Given the description of an element on the screen output the (x, y) to click on. 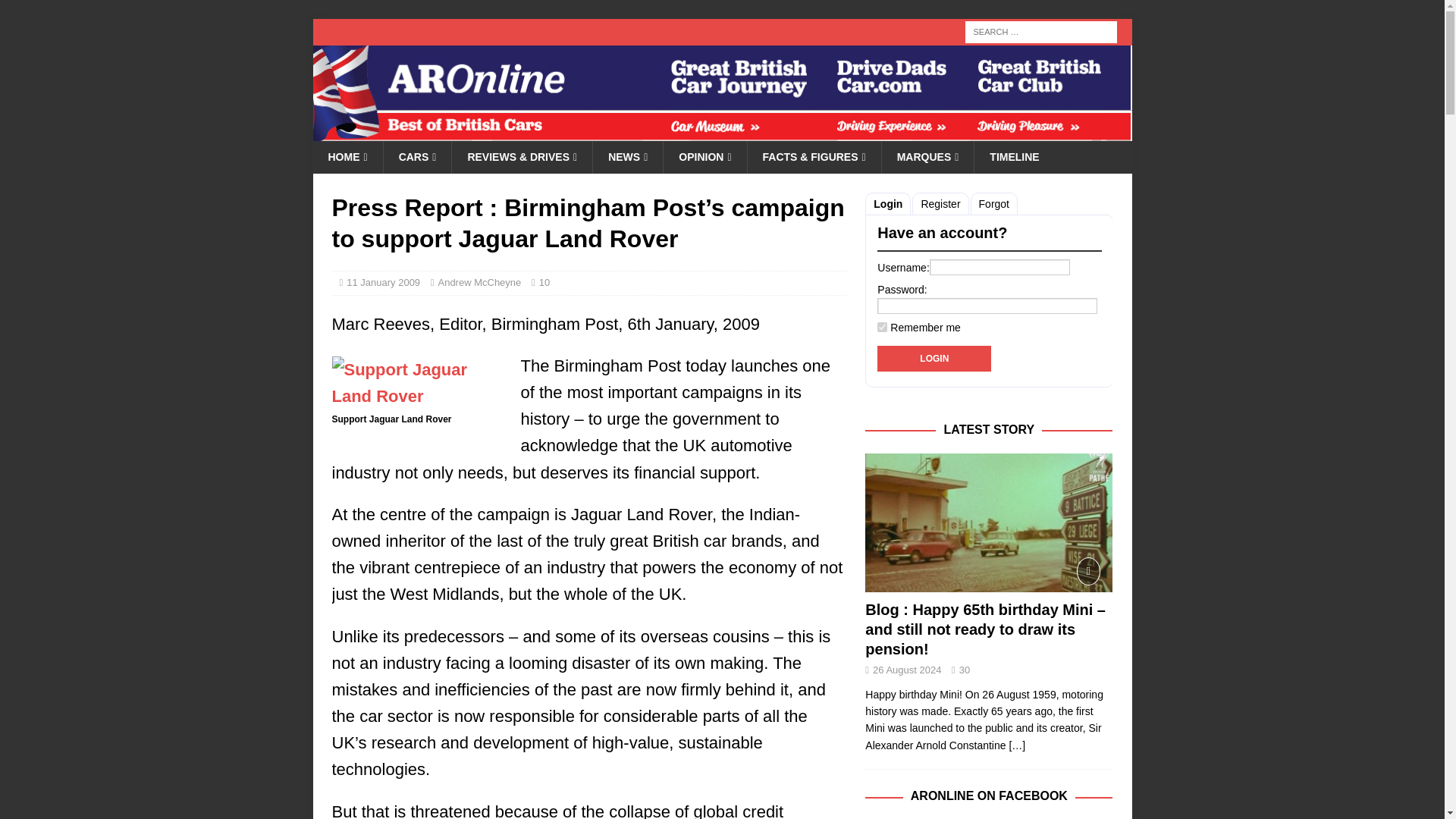
Login (934, 358)
forever (881, 327)
Search (56, 11)
Support Jaguar Land Rover (418, 382)
AROnline (722, 132)
AROnline model histories (416, 156)
